Given the description of an element on the screen output the (x, y) to click on. 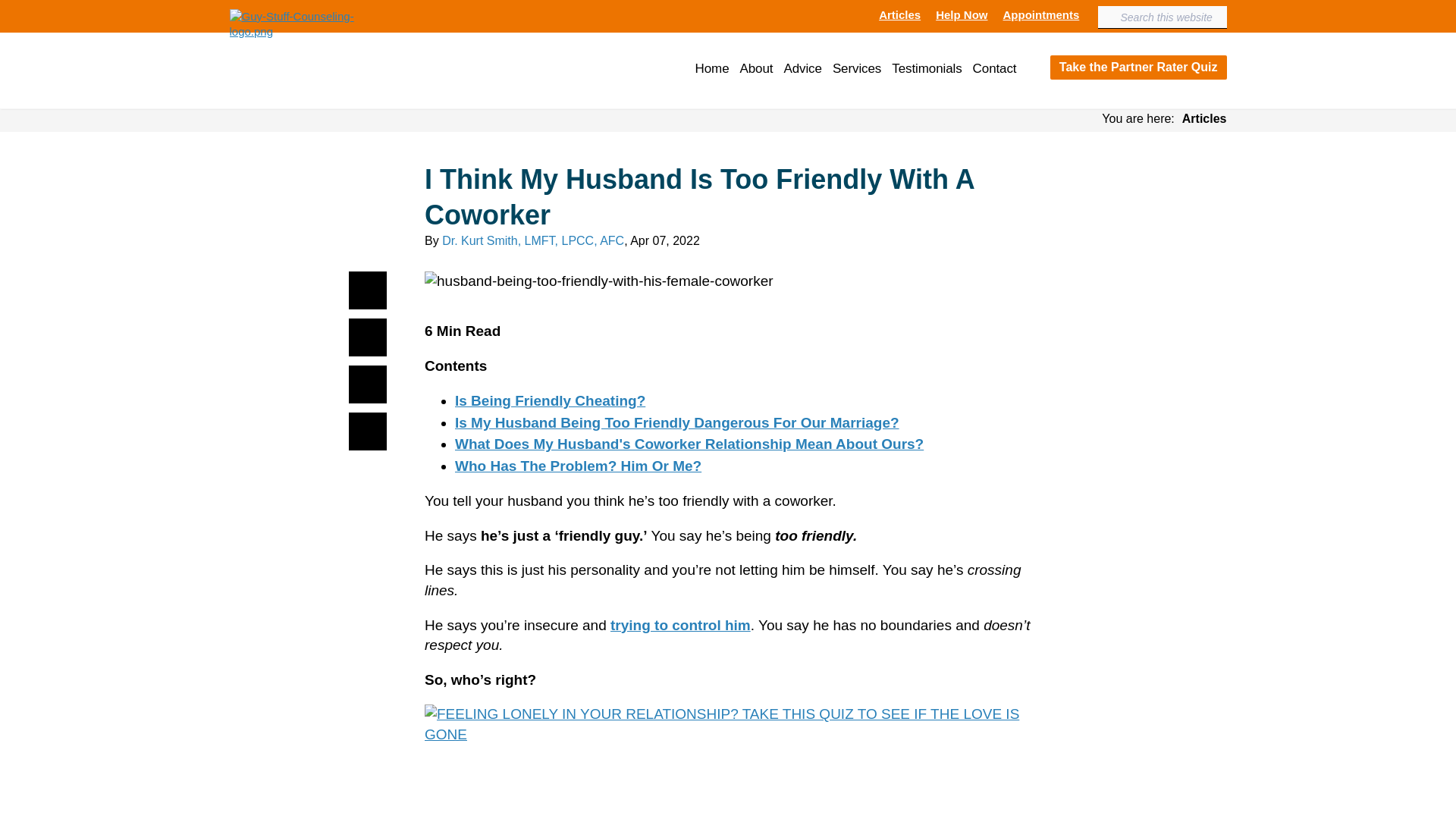
Articles (899, 15)
Share this page on Facebook (368, 290)
Services (856, 70)
Share this page on Pinterest (368, 384)
Appointments (1040, 15)
Home (712, 70)
Guy-Stuff-Counseling-logo.png (311, 23)
Send on this page URL via email (368, 431)
Help Now (961, 15)
Share this page on Twitter (368, 337)
